Given the description of an element on the screen output the (x, y) to click on. 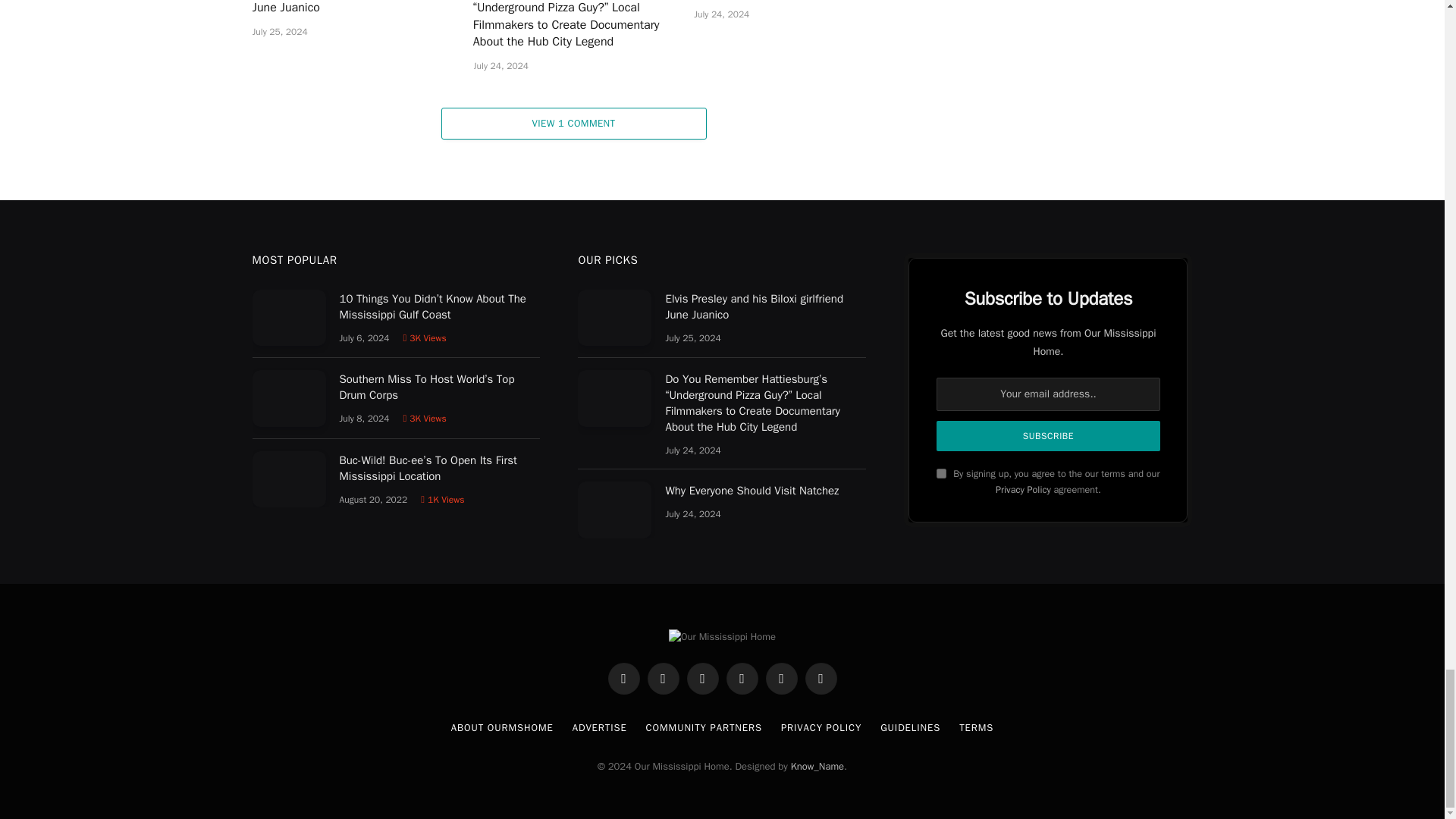
on (941, 473)
Subscribe (1047, 435)
